Given the description of an element on the screen output the (x, y) to click on. 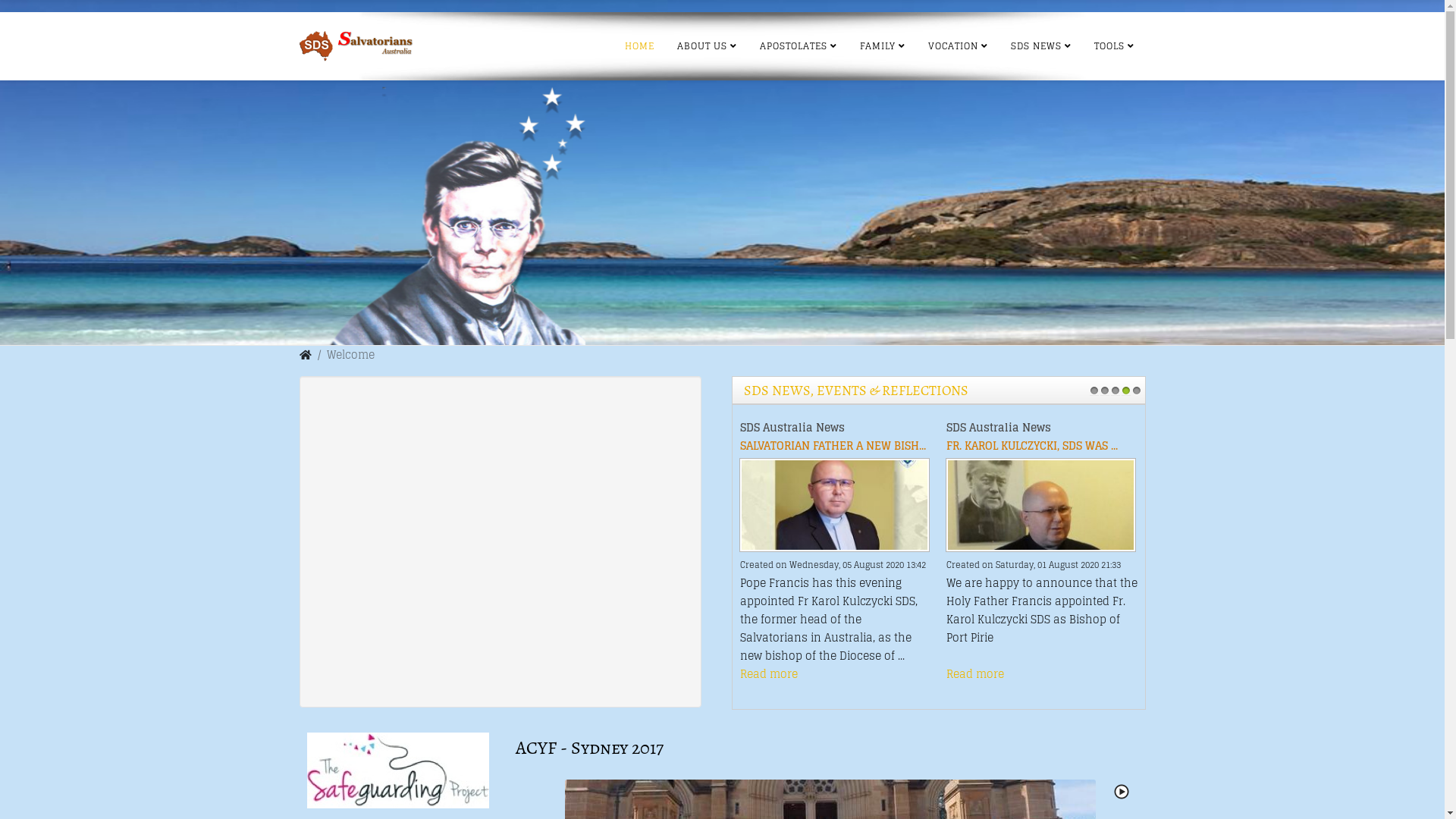
5 Element type: text (1135, 390)
3 Element type: text (1114, 390)
TOOLS Element type: text (1113, 46)
ACYF - Sydney 2017 Element type: text (589, 747)
4 Element type: text (1124, 390)
Salvatorian Father a new Bishop of Port Pirie Diocese Element type: hover (835, 504)
SDS World News Element type: text (989, 426)
SDS NEWS, EVENTS & REFLECTIONS Element type: text (855, 390)
Read more Element type: text (975, 673)
HOME Element type: text (638, 46)
VOCATION Element type: text (957, 46)
Read more Element type: text (768, 673)
2 Element type: text (1103, 390)
APOSTOLATES Element type: text (797, 46)
FAMILY Element type: text (881, 46)
15-05-2021 IS THE DATE OF BEA... Element type: text (1033, 445)
1 Element type: text (1093, 390)
Salvatorian Father a new Bishop of Port Pirie Diocese Element type: hover (834, 504)
SDS World News Element type: text (783, 426)
SDS NEWS Element type: text (1040, 46)
ABOUT US Element type: text (706, 46)
BISHOP'S ORDINATION OF REV. ... Element type: text (825, 445)
